Given the description of an element on the screen output the (x, y) to click on. 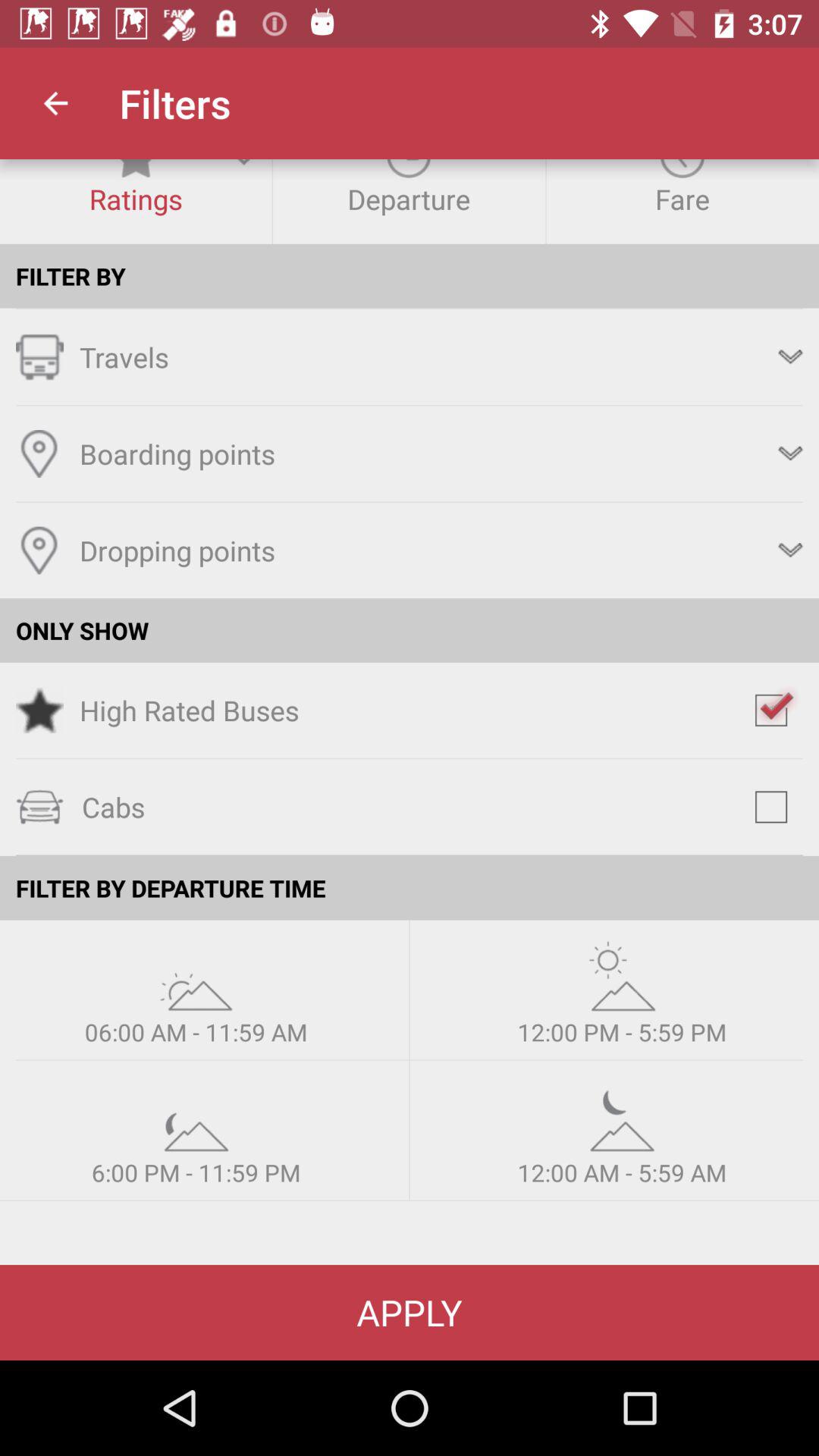
filter by late night time (622, 1116)
